Given the description of an element on the screen output the (x, y) to click on. 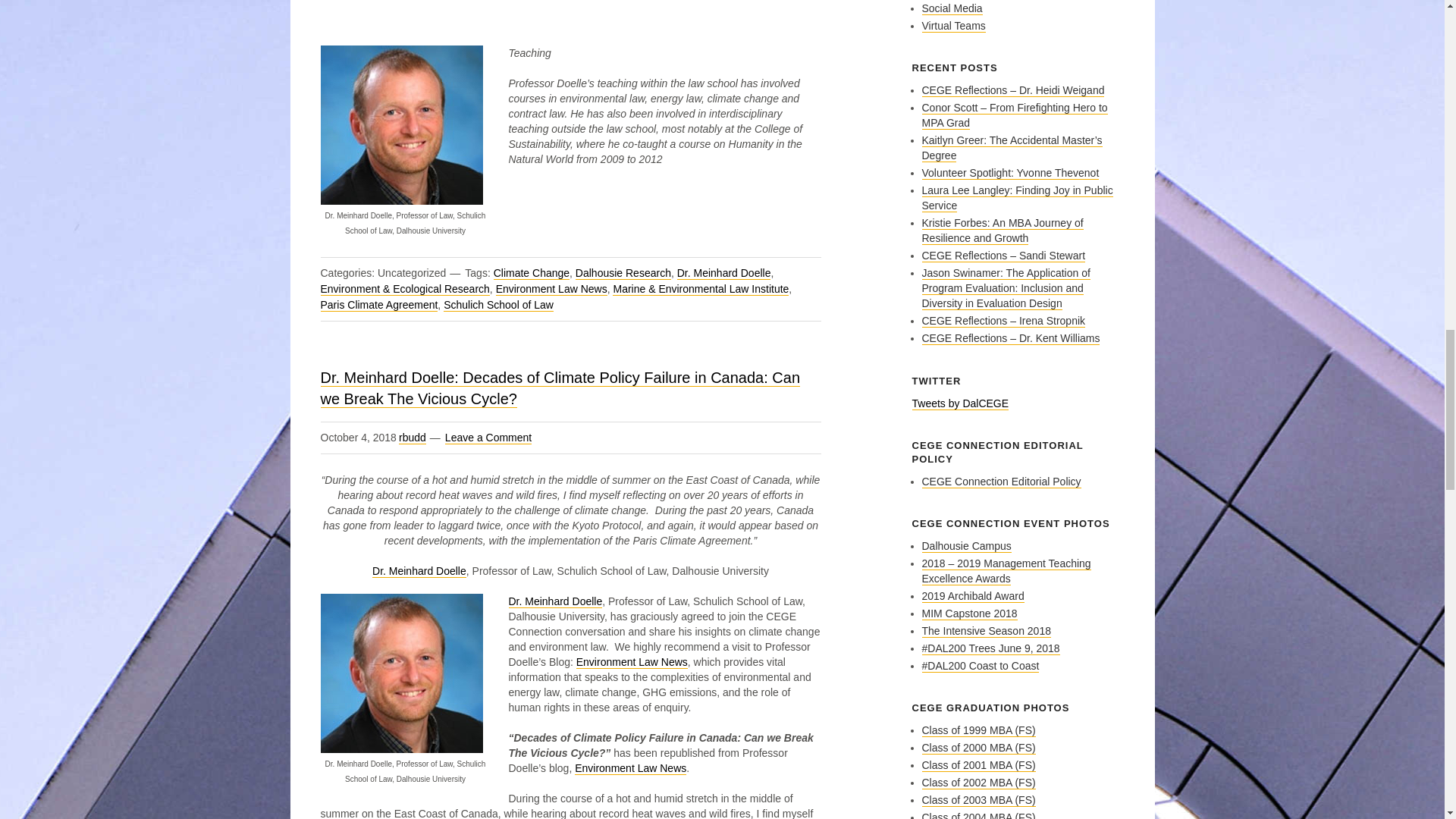
Environment Law News (551, 288)
Dr. Meinhard Doelle (724, 273)
Dr. Meinhard Doelle (555, 601)
Environment Law News (631, 662)
Leave a Comment (488, 437)
rbudd (412, 437)
Dr. Meinhard Doelle (418, 571)
Dalhousie Research (623, 273)
Environment Law News (630, 768)
Climate Change (531, 273)
Paris Climate Agreement (379, 305)
Schulich School of Law (498, 305)
